Given the description of an element on the screen output the (x, y) to click on. 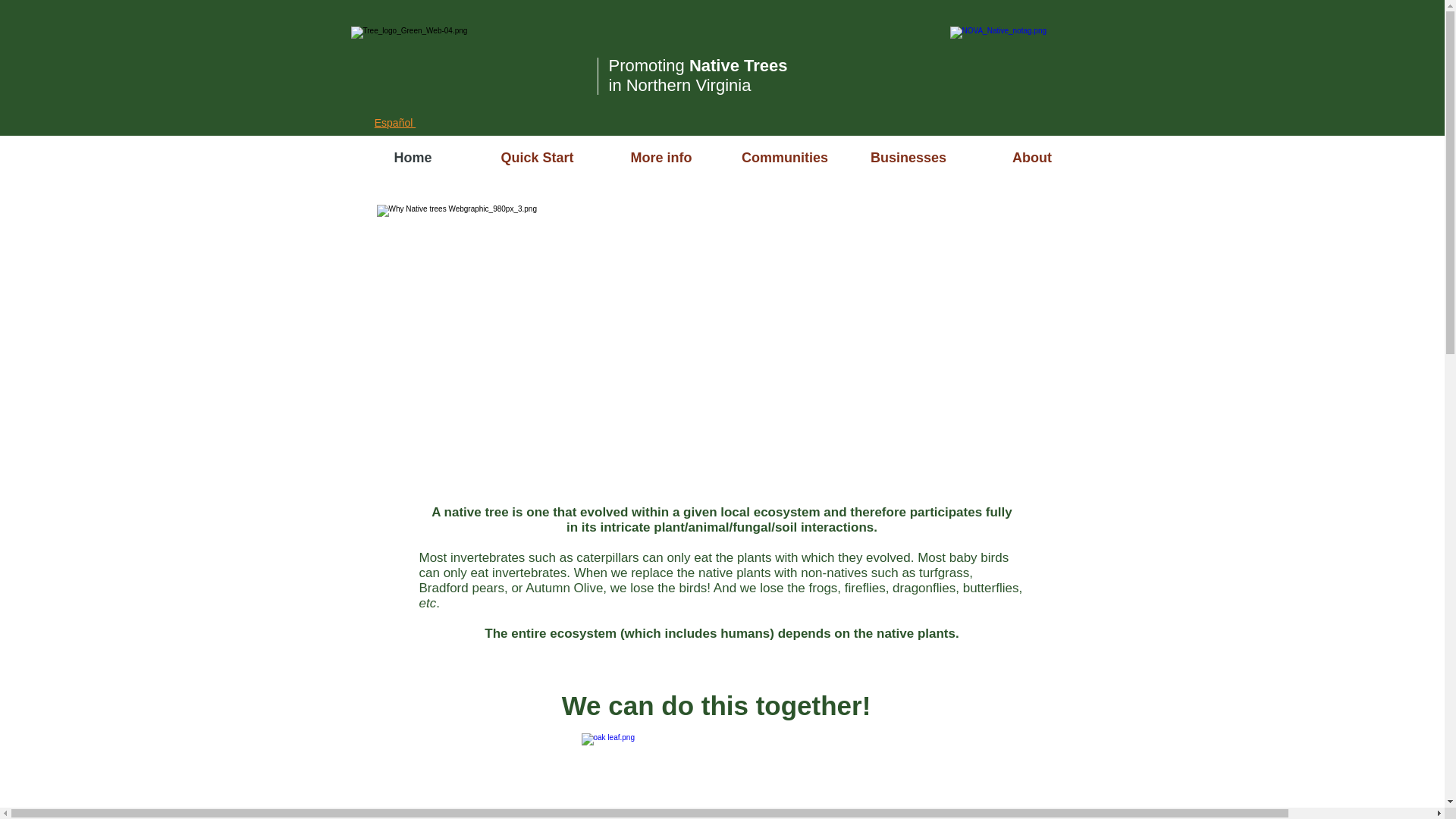
Businesses (907, 157)
in Northern Virginia (679, 85)
Home (412, 157)
Promoting Native Trees (697, 65)
